Given the description of an element on the screen output the (x, y) to click on. 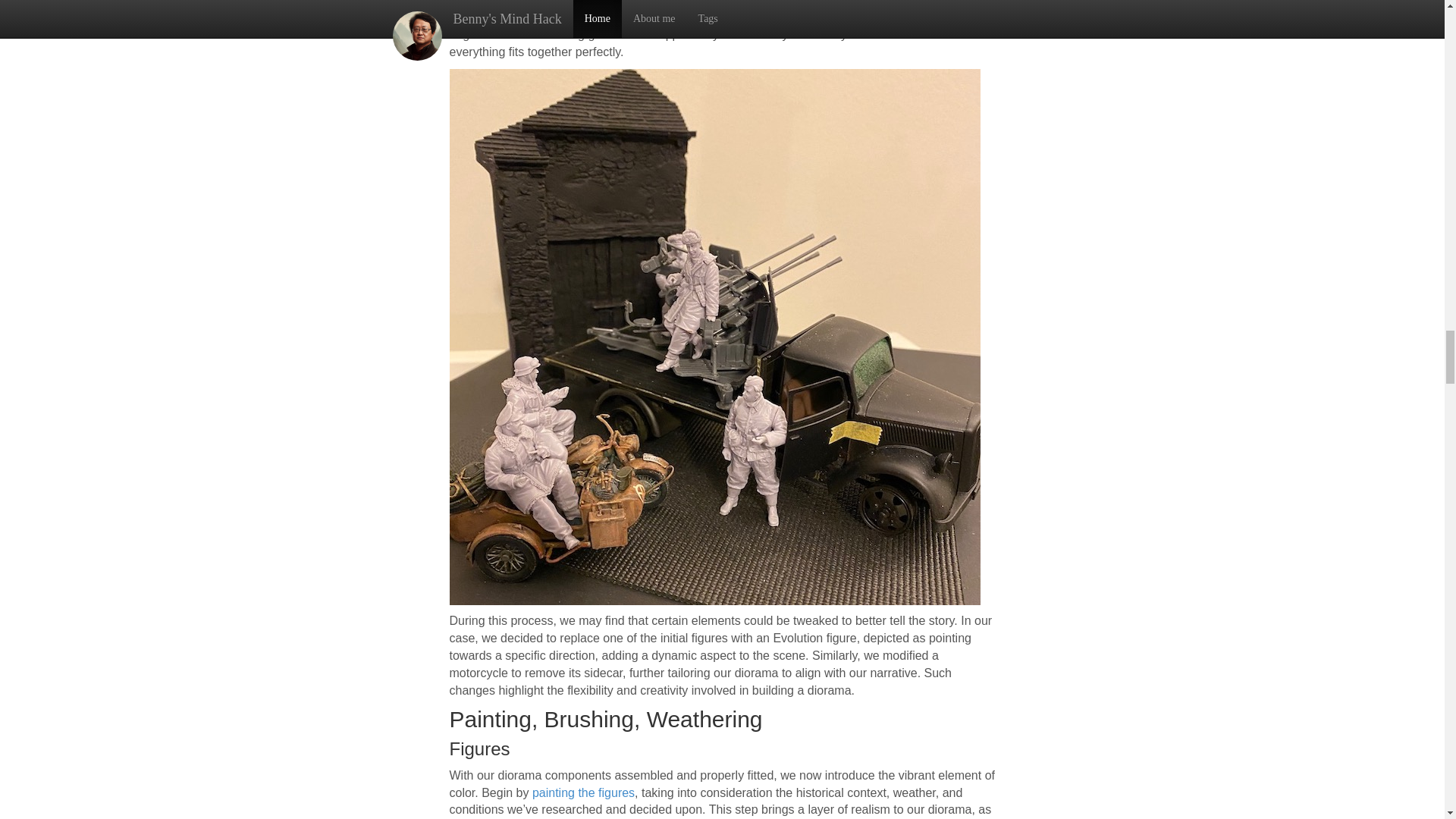
painting the figures (583, 792)
